Given the description of an element on the screen output the (x, y) to click on. 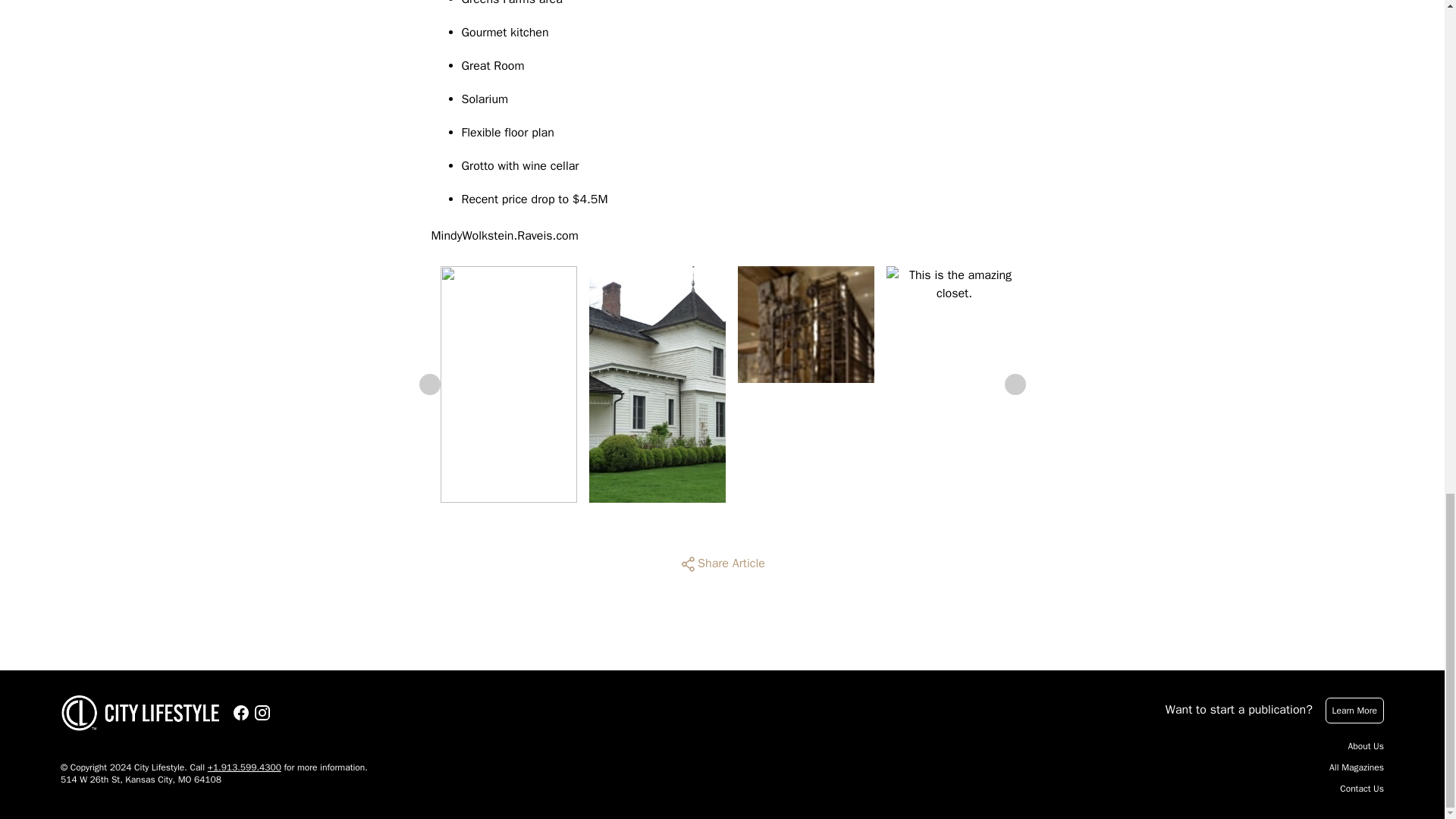
Contact Us (1361, 788)
Learn More (1354, 710)
Share Article (722, 563)
All Magazines (1356, 767)
About Us (1366, 746)
